Given the description of an element on the screen output the (x, y) to click on. 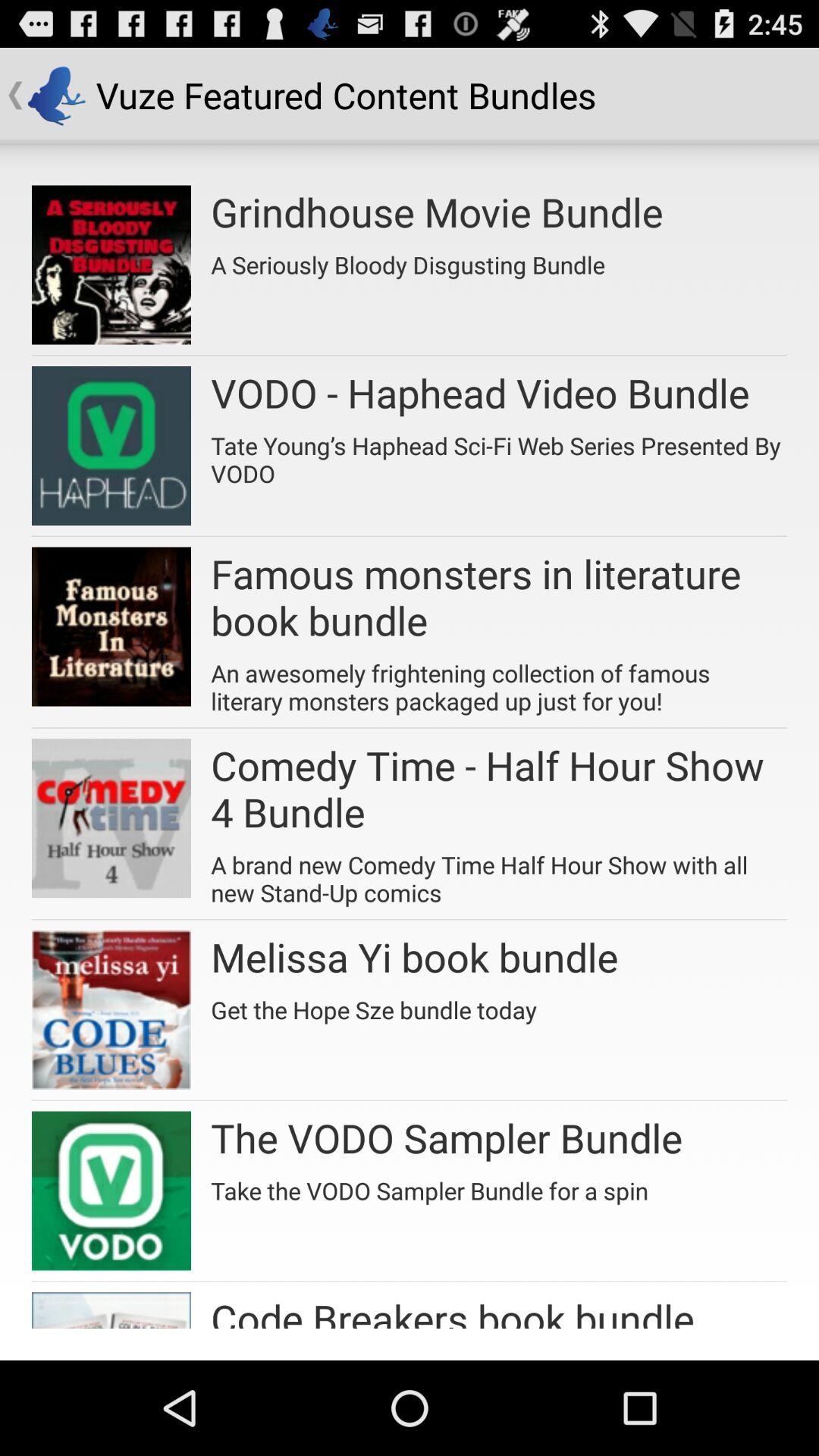
click icon below the vuze featured content icon (437, 211)
